Given the description of an element on the screen output the (x, y) to click on. 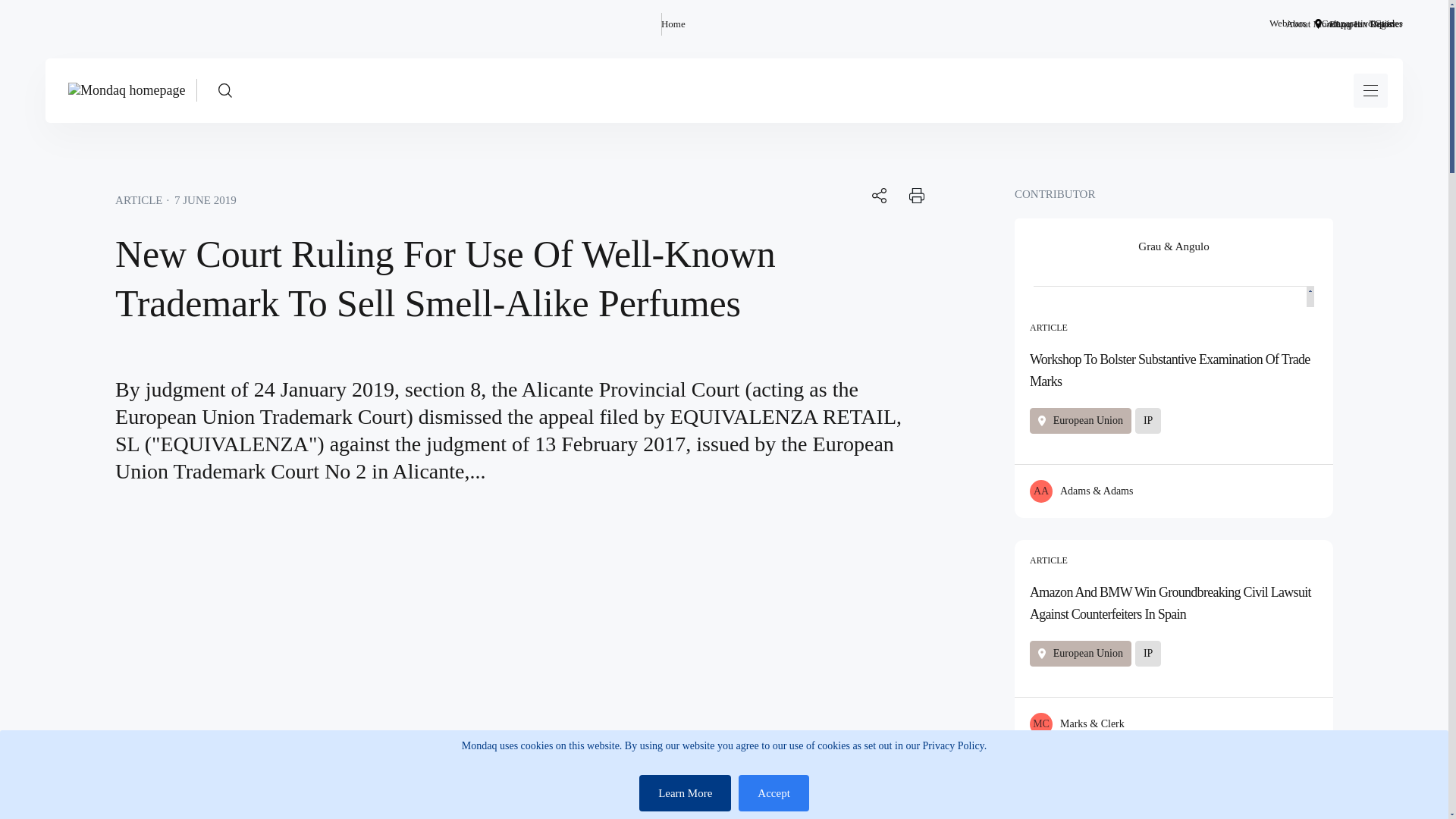
Comparative Guides (1362, 23)
Webinars (1287, 23)
About Mondaq (1315, 24)
Home (673, 24)
